Given the description of an element on the screen output the (x, y) to click on. 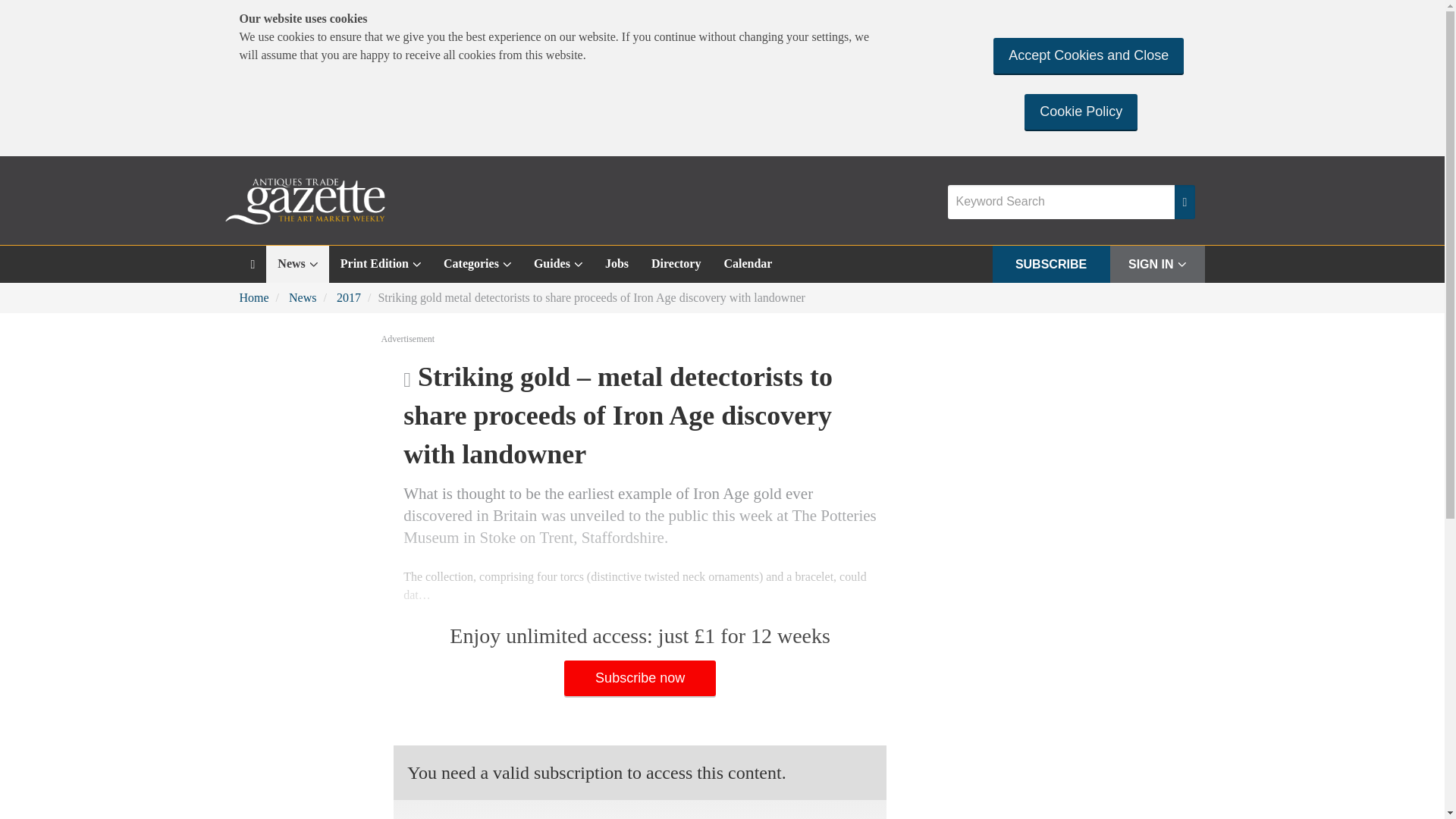
Cookie Policy (1081, 111)
News (297, 263)
Keyword Search (1060, 202)
